Given the description of an element on the screen output the (x, y) to click on. 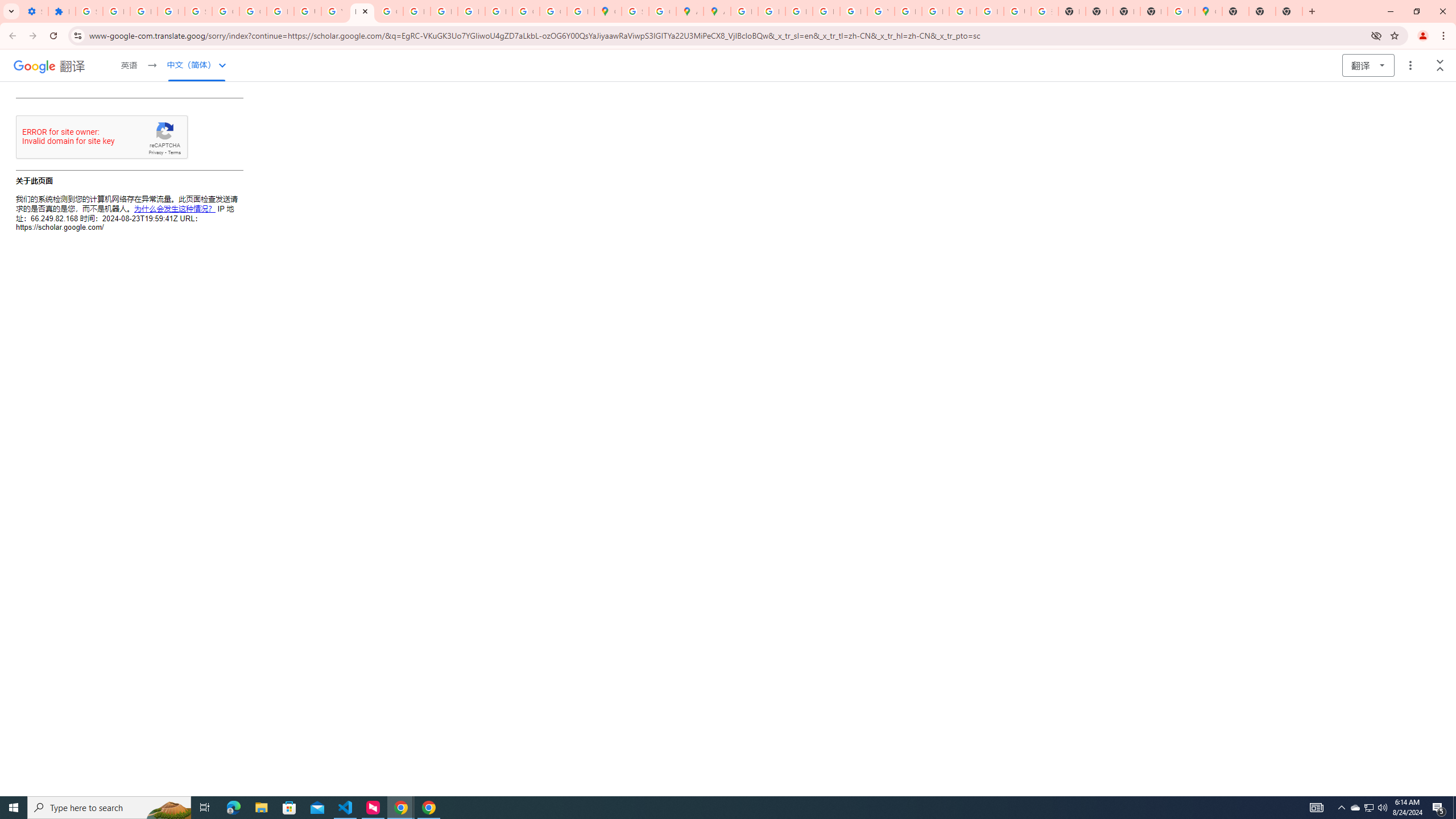
Privacy Help Center - Policies Help (771, 11)
Google Maps (1208, 11)
Privacy Help Center - Policies Help (799, 11)
New Tab (1153, 11)
